Given the description of an element on the screen output the (x, y) to click on. 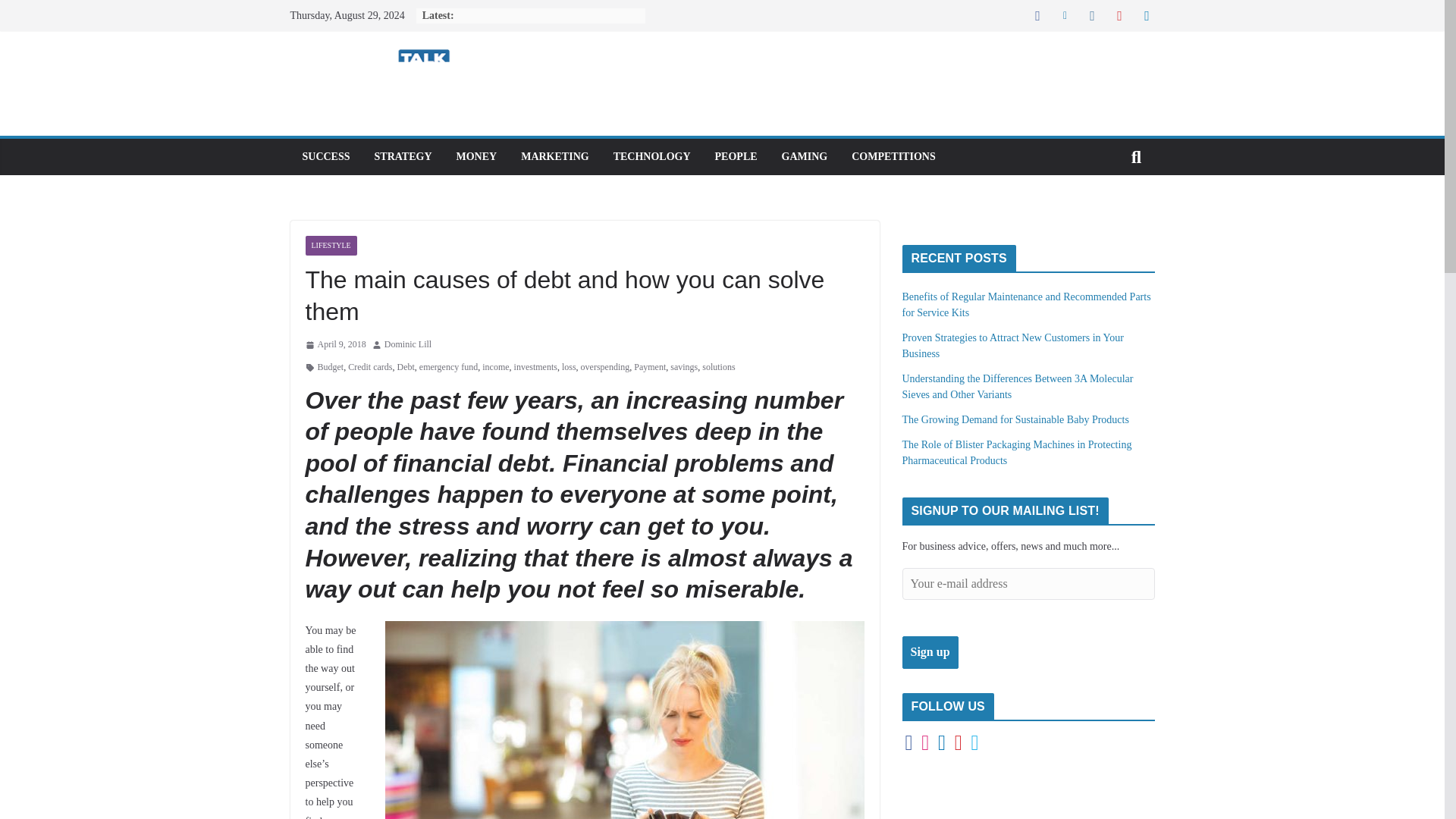
savings (683, 367)
investments (535, 367)
TECHNOLOGY (651, 156)
Payment (649, 367)
Dominic Lill (407, 344)
solutions (718, 367)
GAMING (804, 156)
STRATEGY (403, 156)
Dominic Lill (407, 344)
Budget (330, 367)
